Given the description of an element on the screen output the (x, y) to click on. 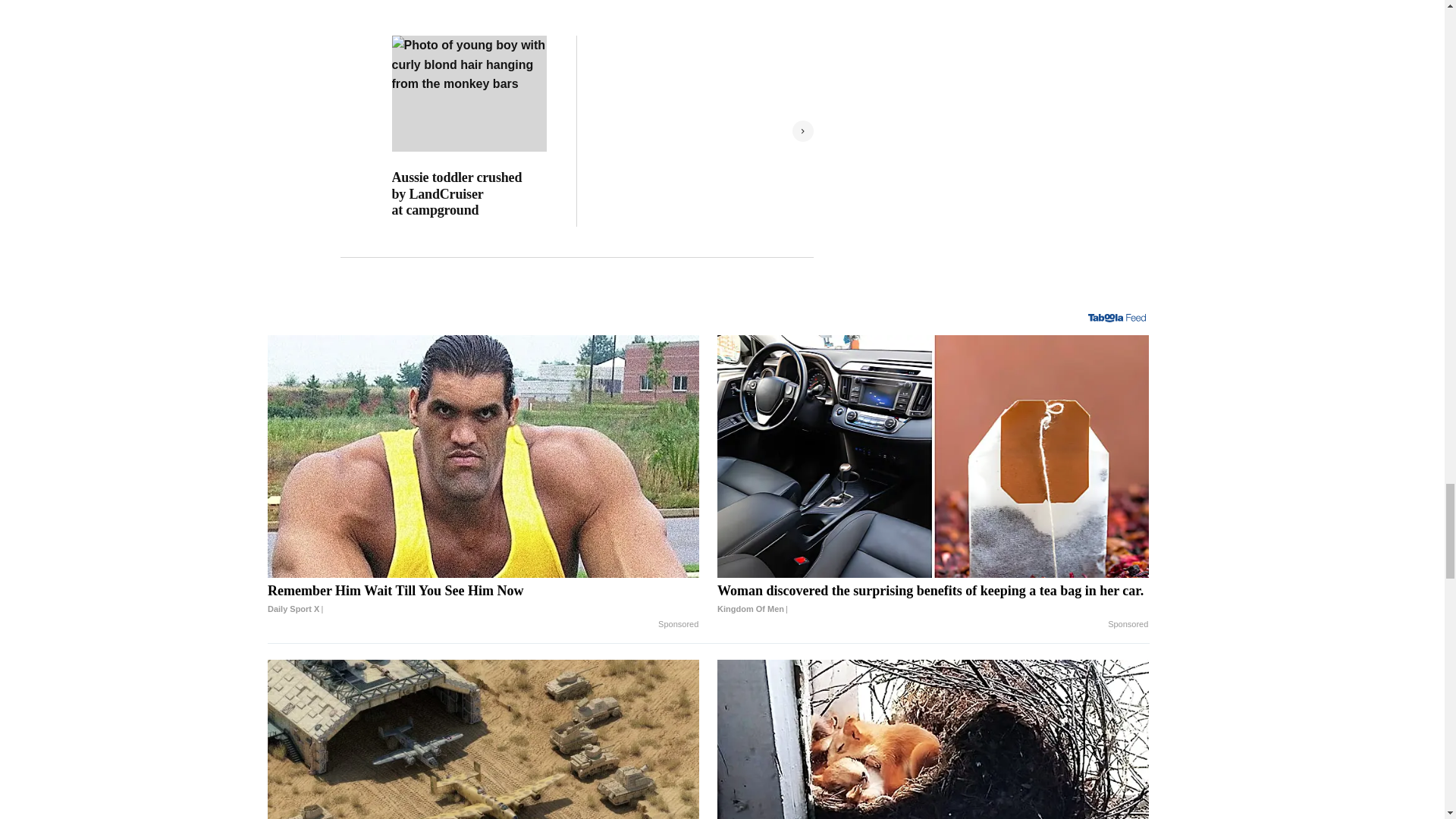
Remember Him Wait Till You See Him Now (482, 599)
Remember Him Wait Till You See Him Now (482, 456)
